Given the description of an element on the screen output the (x, y) to click on. 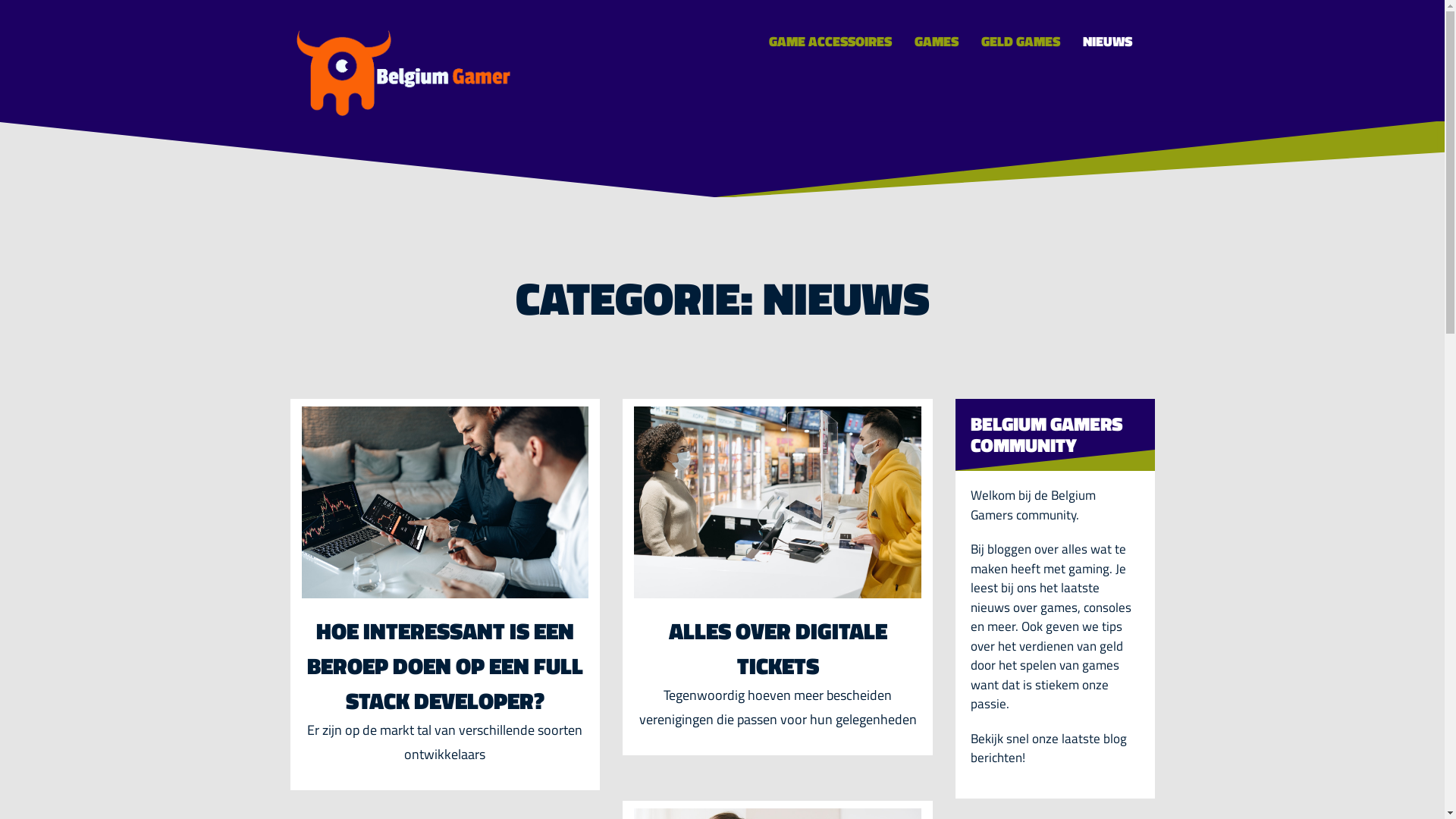
GAME ACCESSOIRES Element type: text (829, 41)
GELD GAMES Element type: text (1019, 41)
Belgium Gamers  Element type: hover (403, 69)
NIEUWS Element type: text (1106, 41)
GAMES Element type: text (935, 41)
ALLES OVER DIGITALE TICKETS Element type: text (777, 648)
